Given the description of an element on the screen output the (x, y) to click on. 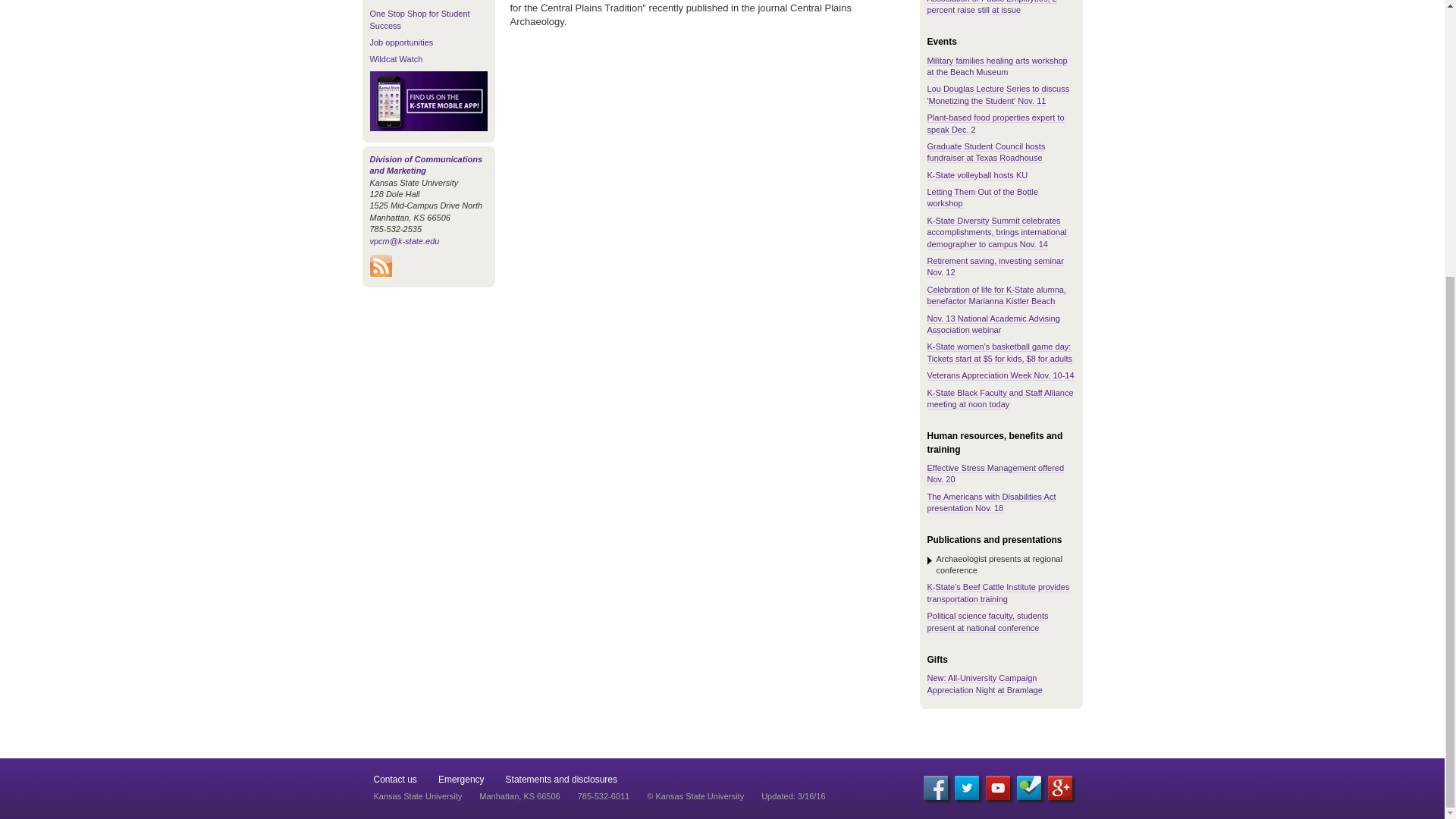
One Stop Shop for Student Success (419, 19)
